Given the description of an element on the screen output the (x, y) to click on. 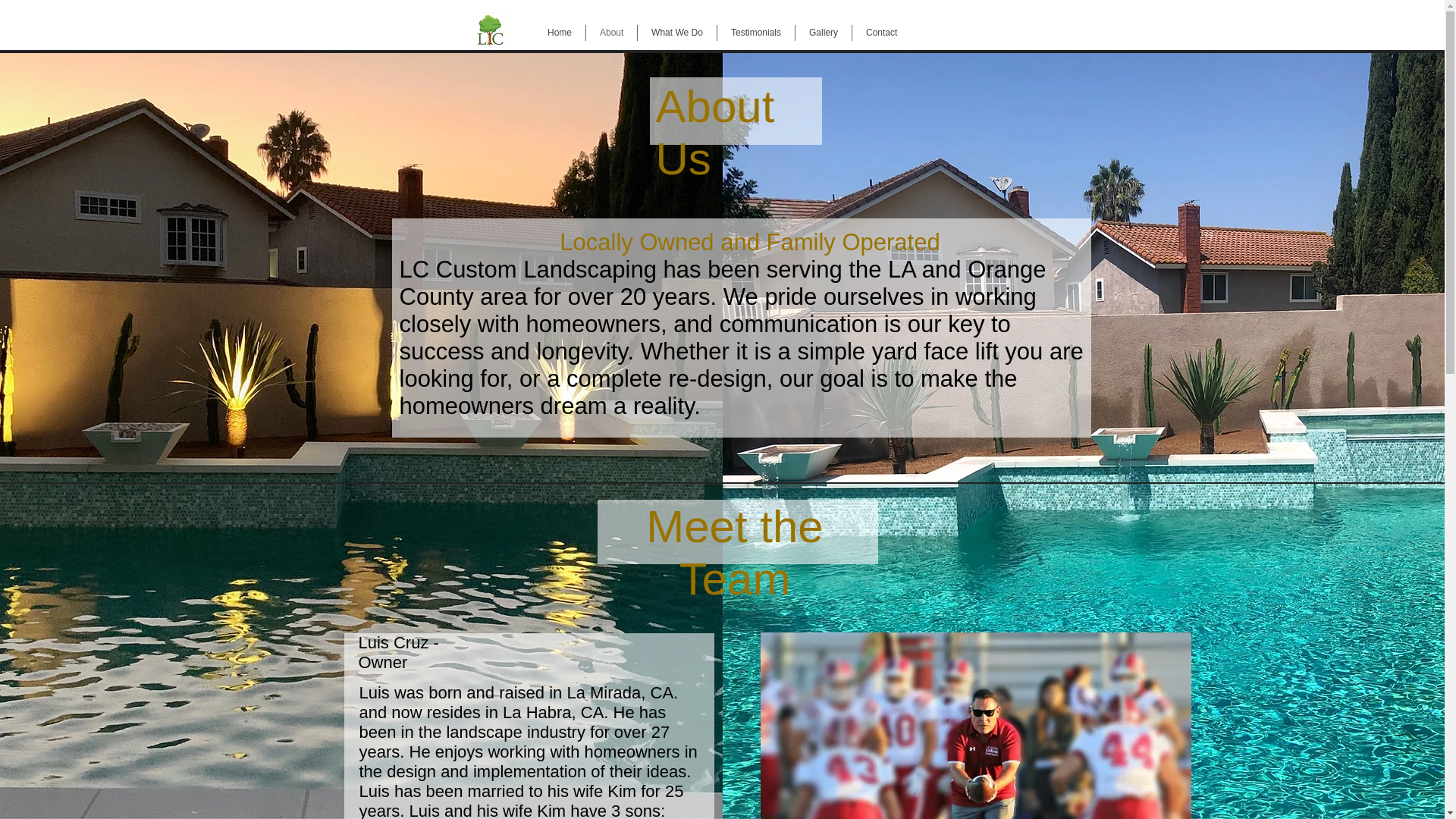
About (611, 32)
Contact (881, 32)
Gallery (822, 32)
What We Do (676, 32)
Testimonials (755, 32)
Home (559, 32)
